Given the description of an element on the screen output the (x, y) to click on. 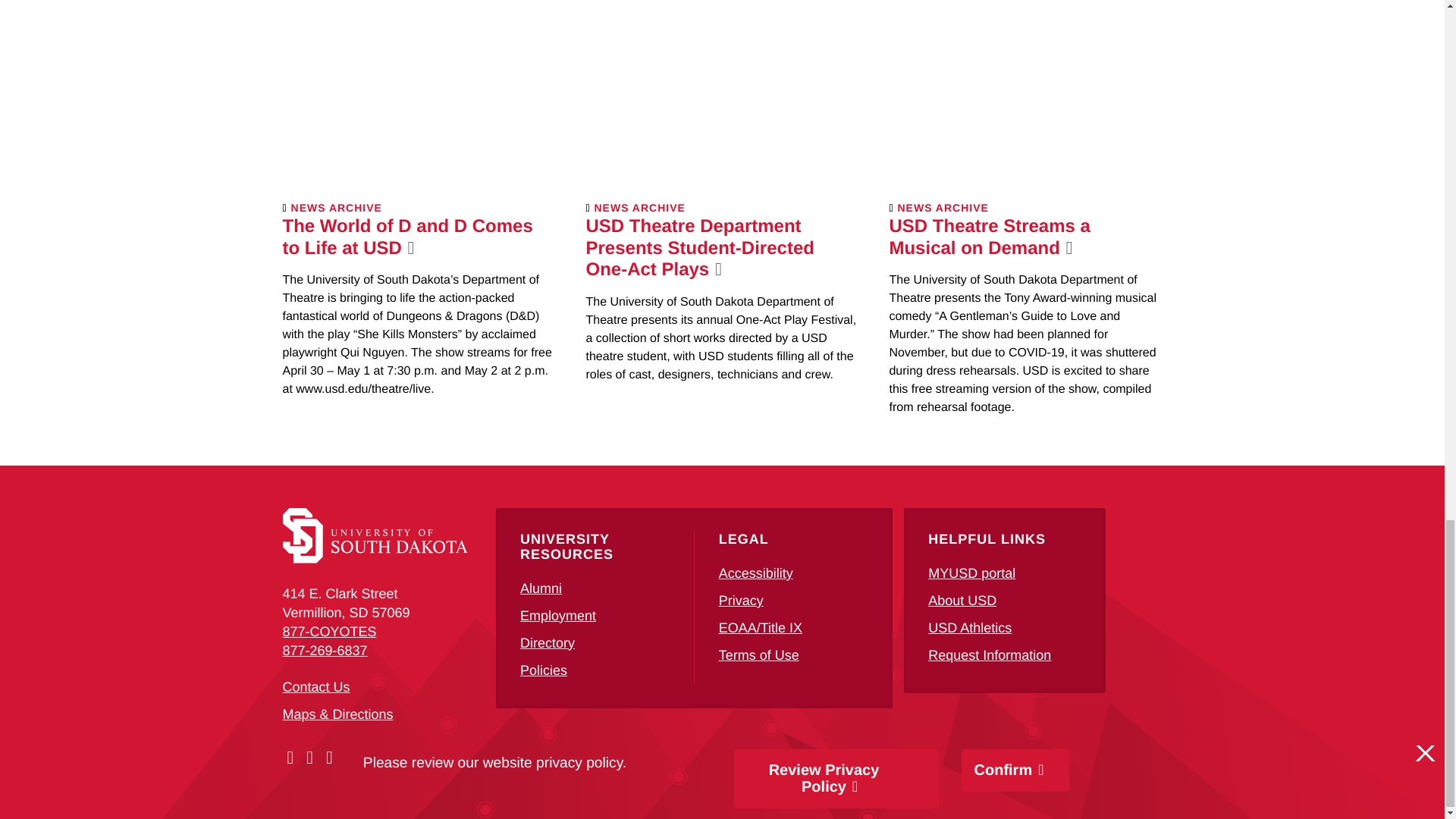
Employment (557, 615)
USD Athletics site (969, 627)
Privacy (740, 600)
Faculty and Staff Directory (547, 642)
About USD (961, 600)
USD Terms of Use (759, 654)
USD Policies (543, 670)
Request Information (989, 654)
USD Alumni (540, 588)
Accessibility (756, 572)
